Given the description of an element on the screen output the (x, y) to click on. 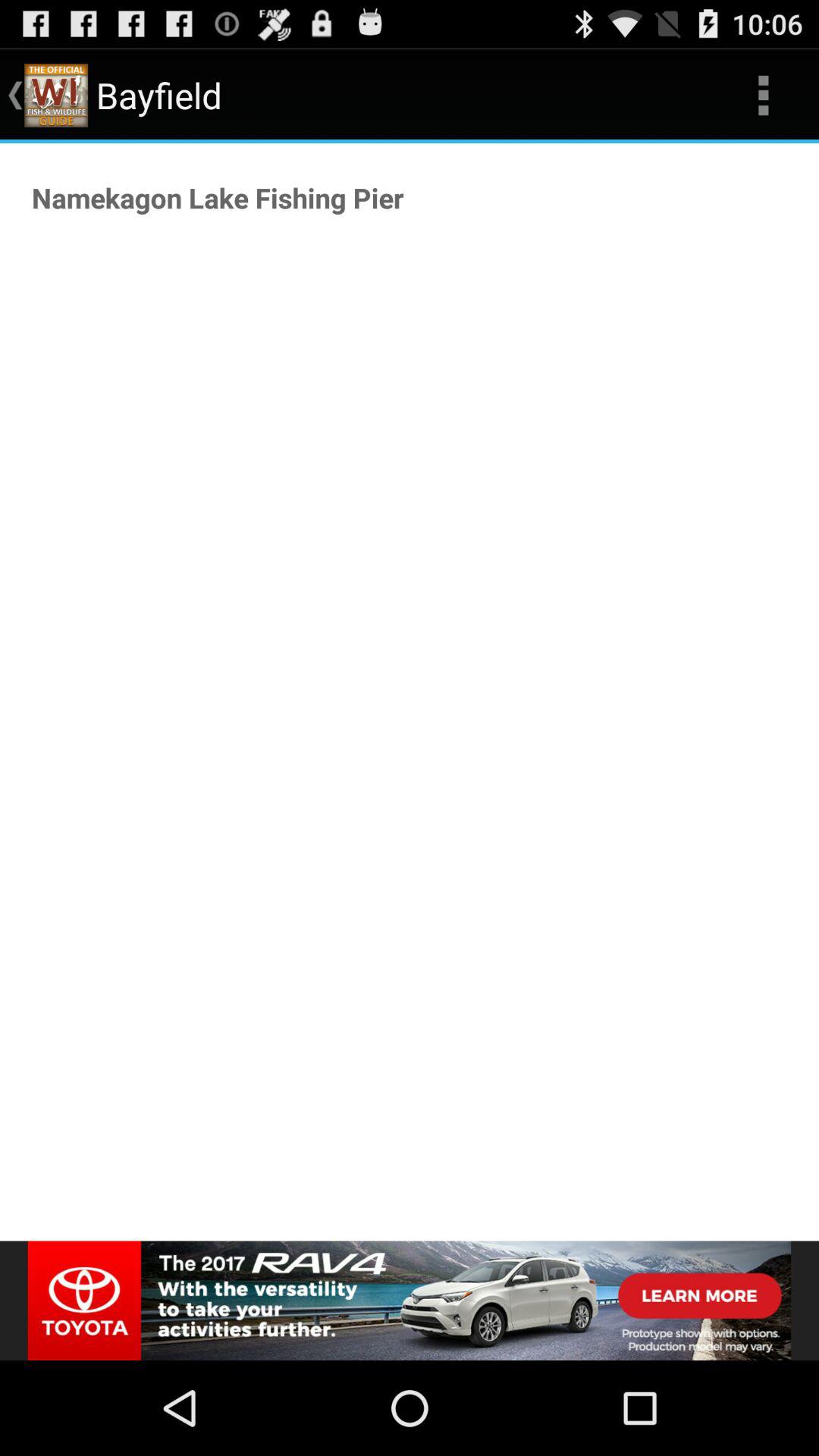
turn on icon at the bottom (409, 1300)
